Given the description of an element on the screen output the (x, y) to click on. 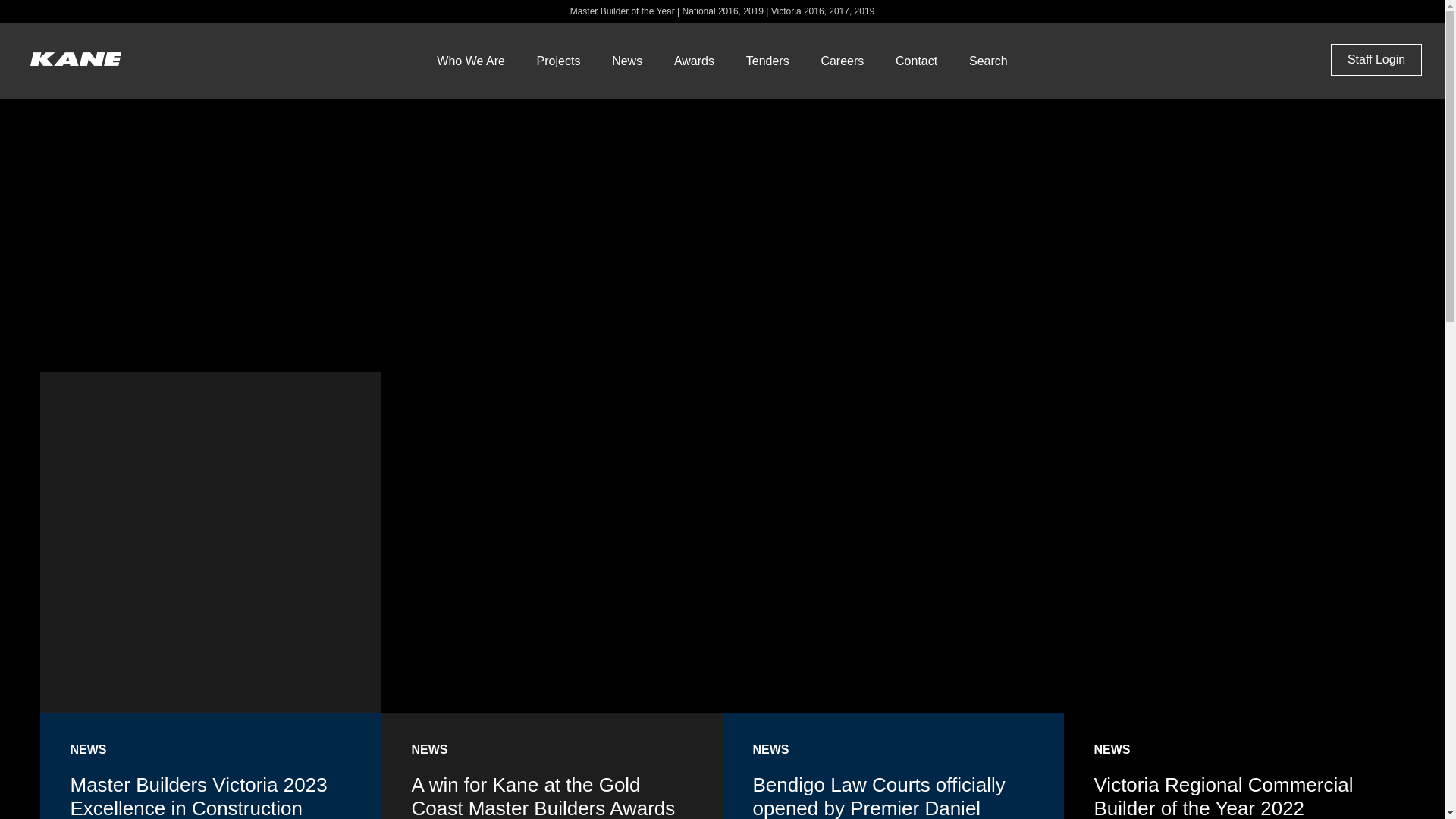
Staff Login Element type: text (1375, 59)
Search Element type: text (988, 60)
Who We Are Element type: text (470, 60)
News Element type: text (626, 60)
Careers Element type: text (841, 60)
Contact Element type: text (916, 60)
Tenders Element type: text (767, 60)
Awards Element type: text (694, 60)
Kane Constructions Element type: hover (75, 60)
Projects Element type: text (558, 60)
